Given the description of an element on the screen output the (x, y) to click on. 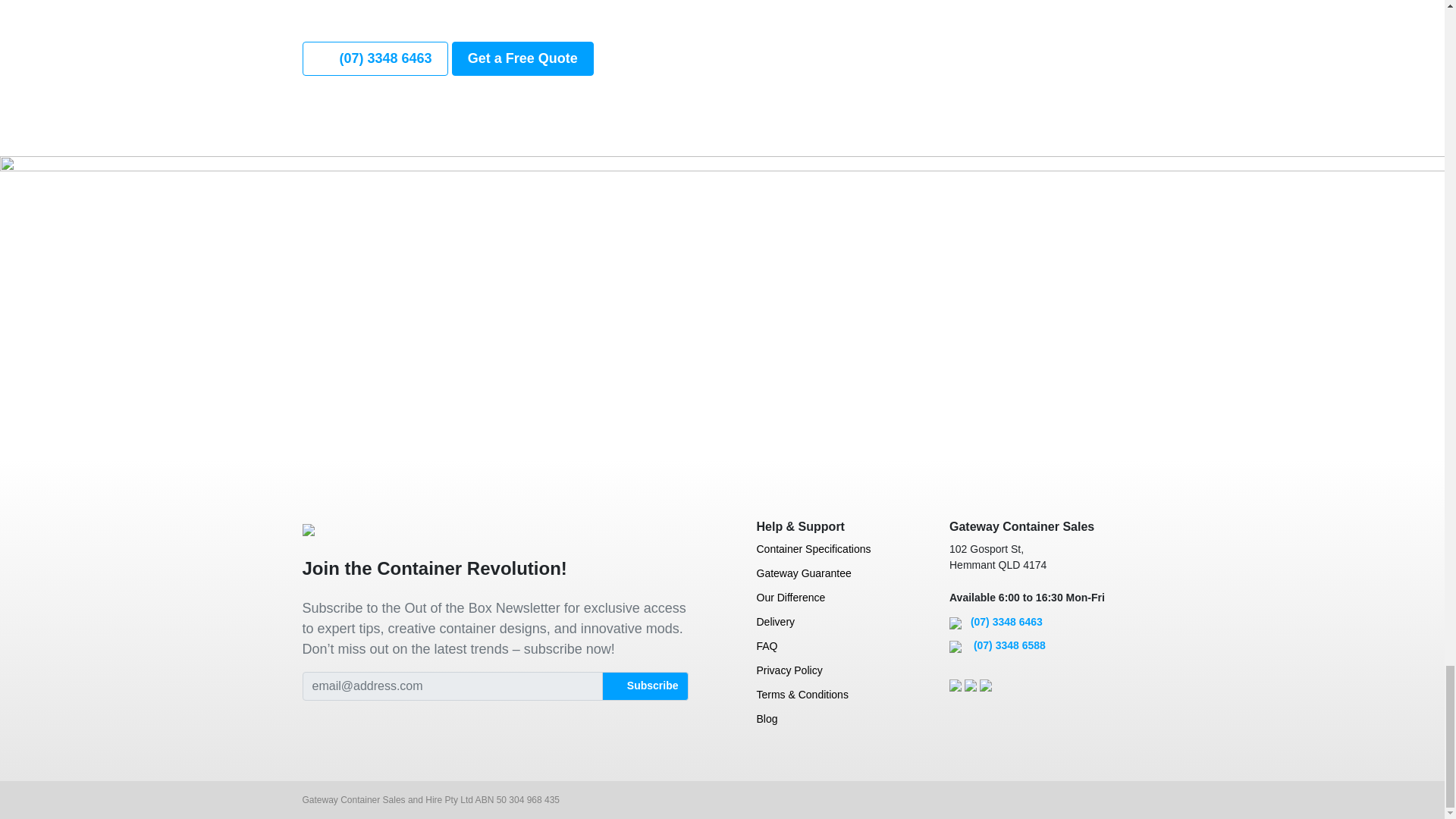
Gateway Guarantee (820, 577)
Delivery (820, 626)
Container Specifications (820, 553)
Our Difference (820, 601)
